Given the description of an element on the screen output the (x, y) to click on. 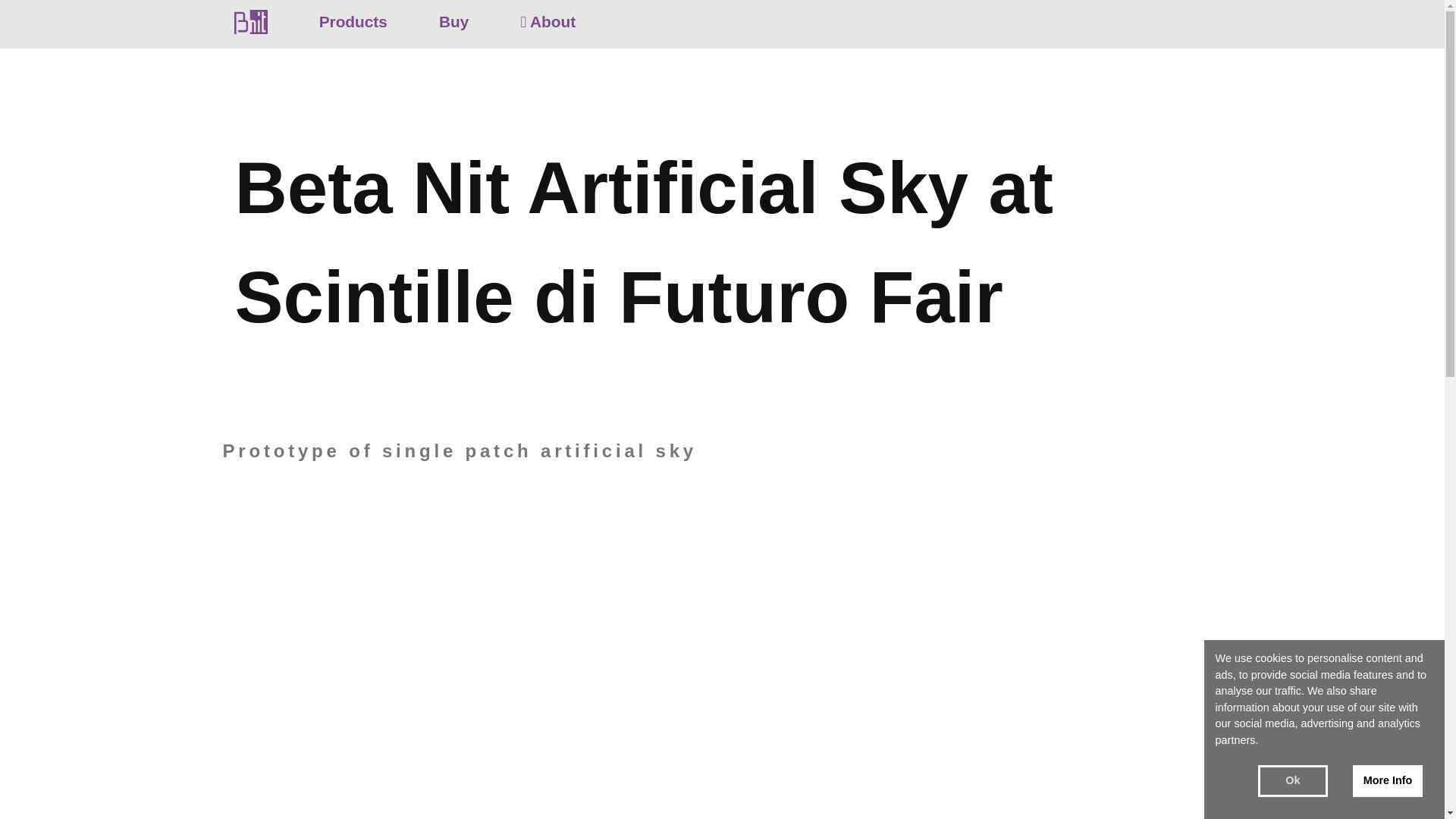
About (547, 21)
Buy (453, 21)
Products (352, 21)
